Given the description of an element on the screen output the (x, y) to click on. 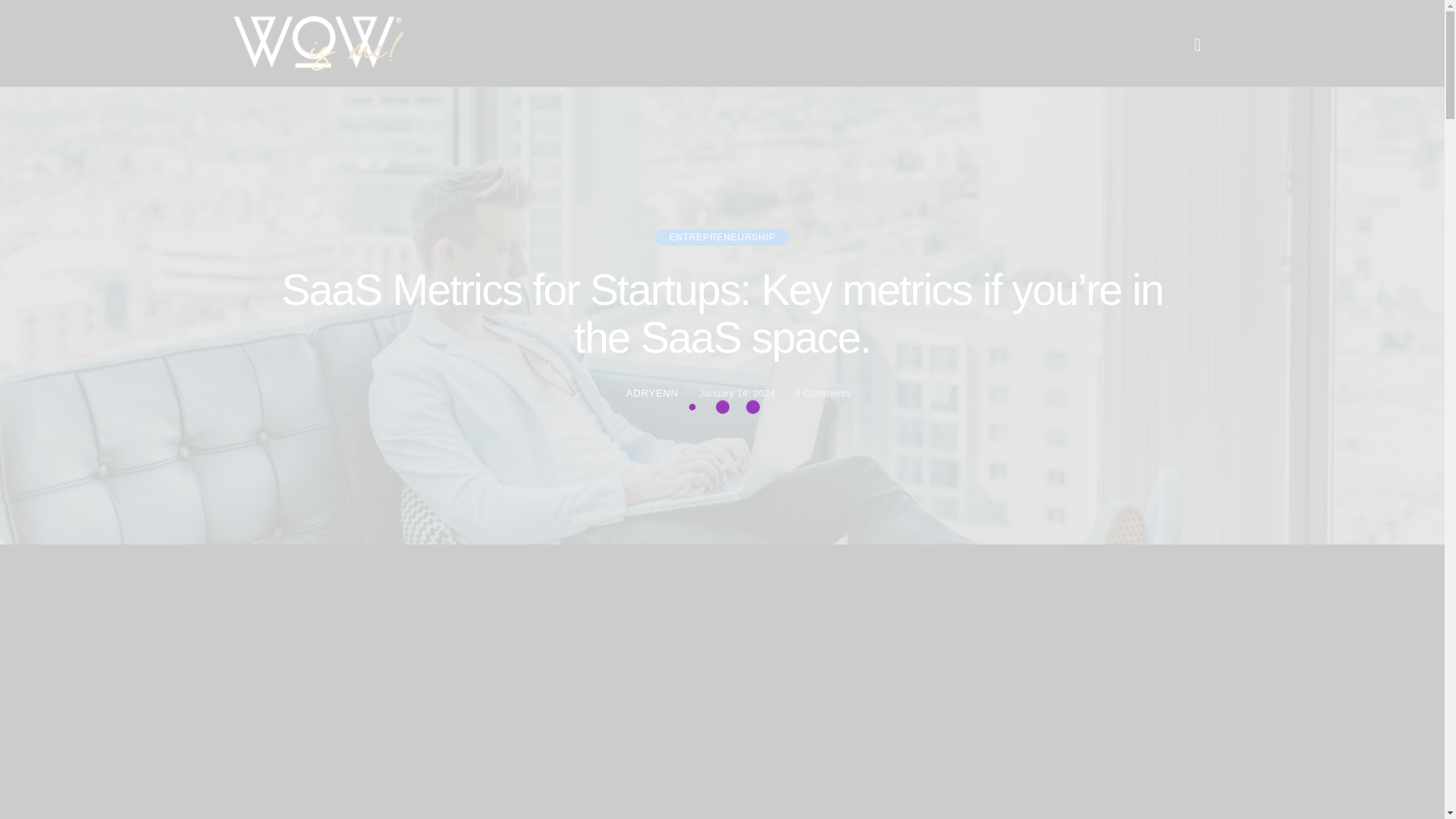
ENTREPRENEURSHIP (721, 237)
0Comments (822, 393)
ADRYENN (644, 393)
